Given the description of an element on the screen output the (x, y) to click on. 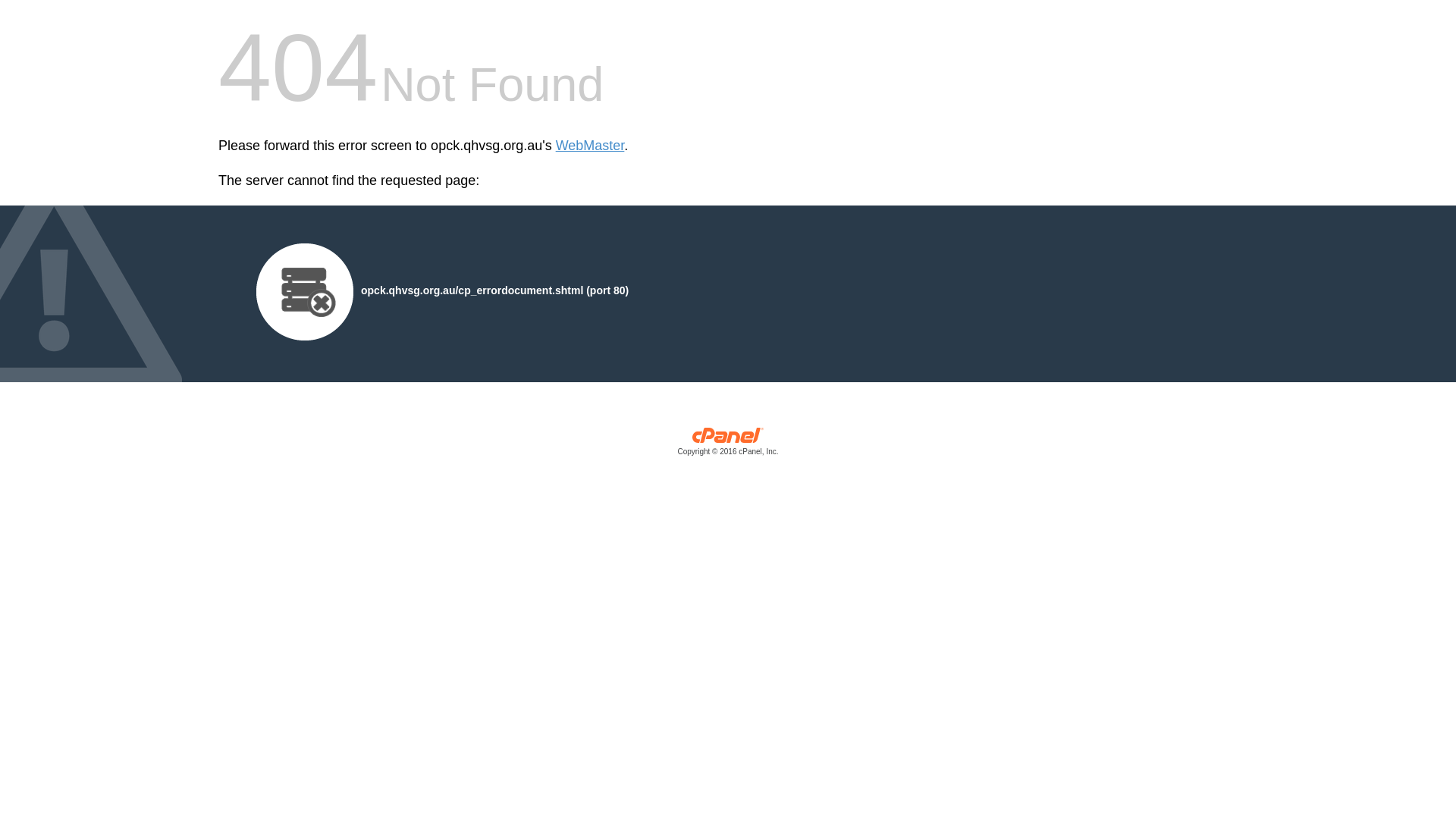
WebMaster Element type: text (589, 145)
